Given the description of an element on the screen output the (x, y) to click on. 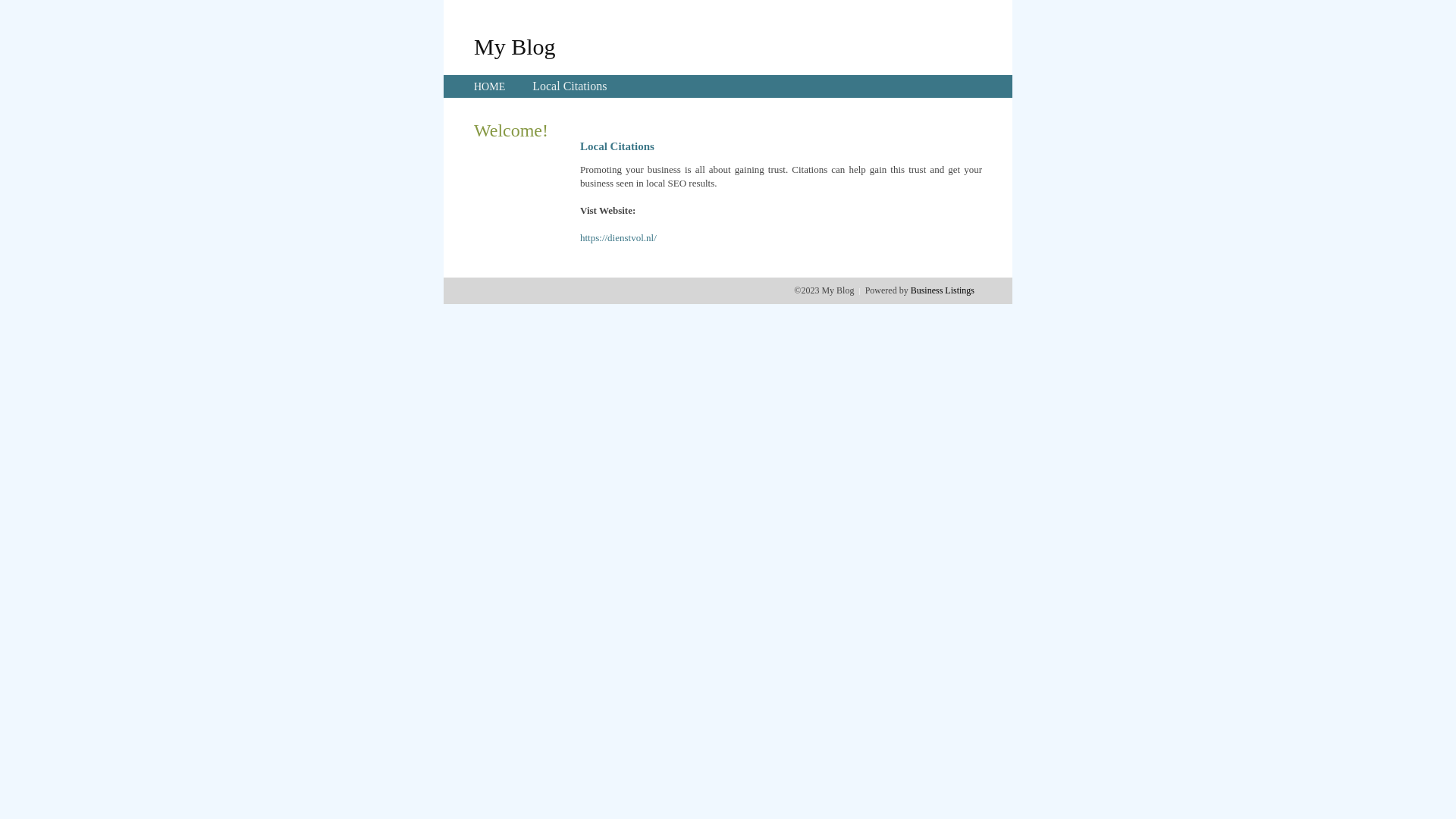
My Blog Element type: text (514, 46)
HOME Element type: text (489, 86)
Local Citations Element type: text (569, 85)
Business Listings Element type: text (942, 290)
https://dienstvol.nl/ Element type: text (618, 237)
